Given the description of an element on the screen output the (x, y) to click on. 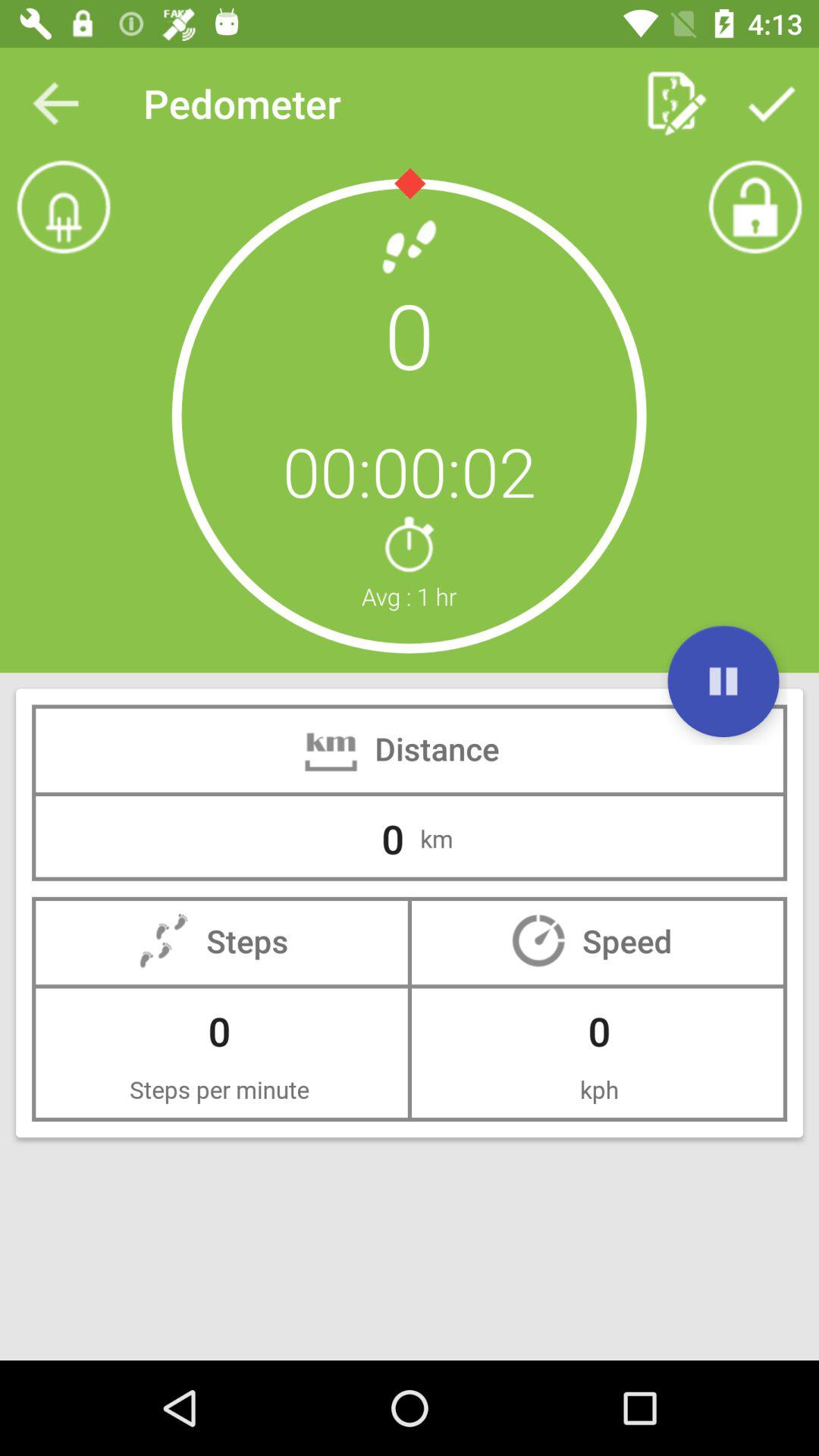
launch icon above the 0 item (55, 103)
